Given the description of an element on the screen output the (x, y) to click on. 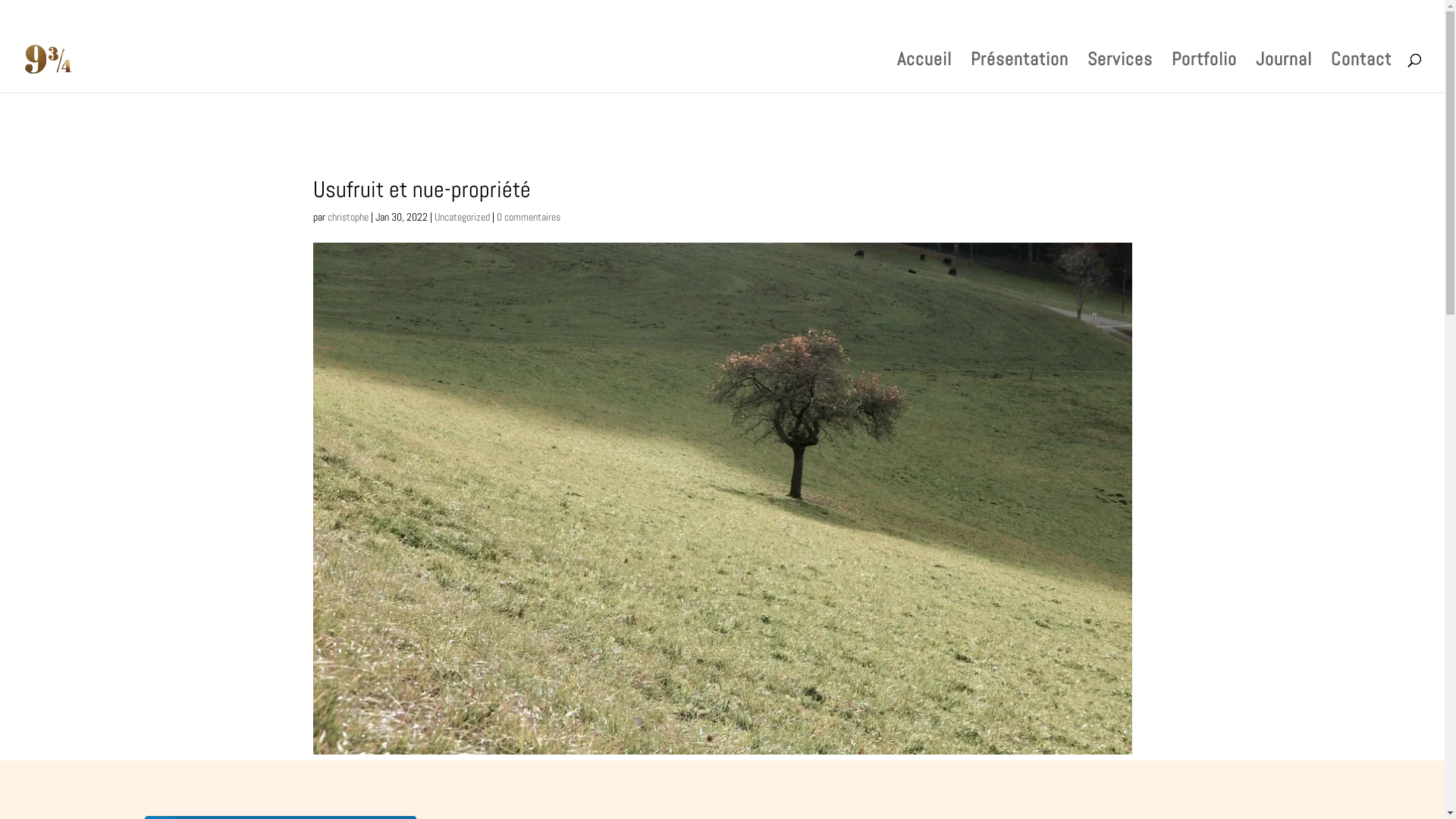
Contact Element type: text (1360, 72)
Accueil Element type: text (924, 72)
Portfolio Element type: text (1203, 72)
Services Element type: text (1119, 72)
0 commentaires Element type: text (527, 216)
Journal Element type: text (1283, 72)
christophe Element type: text (347, 216)
christophe.rime@934architectureetexpertise.ch Element type: text (207, 12)
Uncategorized Element type: text (461, 216)
